Given the description of an element on the screen output the (x, y) to click on. 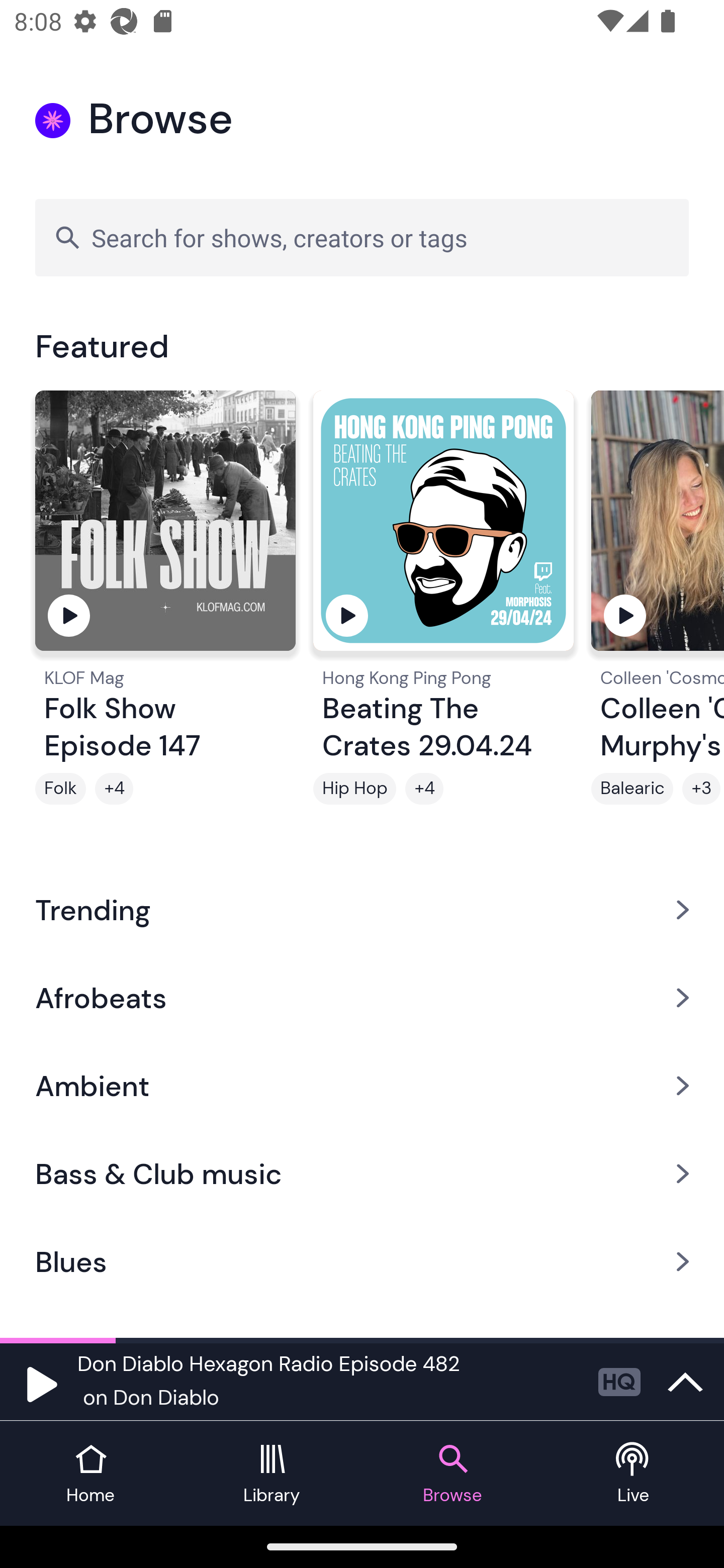
Search for shows, creators or tags (361, 237)
Folk (60, 788)
Hip Hop (354, 788)
Balearic (632, 788)
Trending (361, 909)
Afrobeats (361, 997)
Ambient (361, 1085)
Bass & Club music (361, 1174)
Blues (361, 1262)
Home tab Home (90, 1473)
Library tab Library (271, 1473)
Browse tab Browse (452, 1473)
Live tab Live (633, 1473)
